Given the description of an element on the screen output the (x, y) to click on. 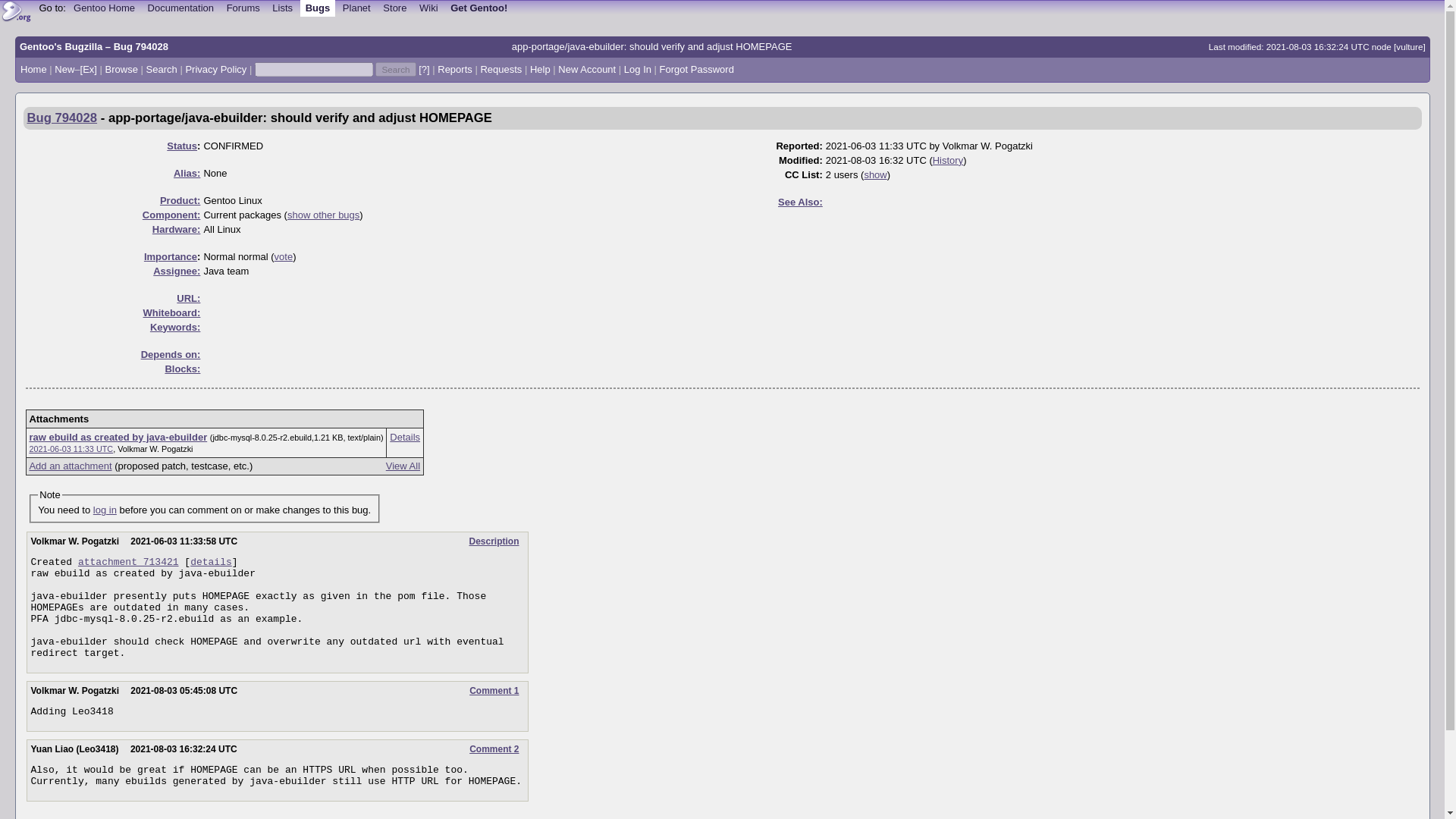
Planet (356, 8)
show other bugs (322, 214)
Alias: (186, 172)
Forgot Password (696, 69)
Quicksearch Help (424, 69)
The person in charge of resolving the bug. (176, 270)
Privacy Policy (215, 69)
Search (394, 69)
Requests (500, 69)
View the content of the attachment (117, 437)
Lists (282, 8)
